Given the description of an element on the screen output the (x, y) to click on. 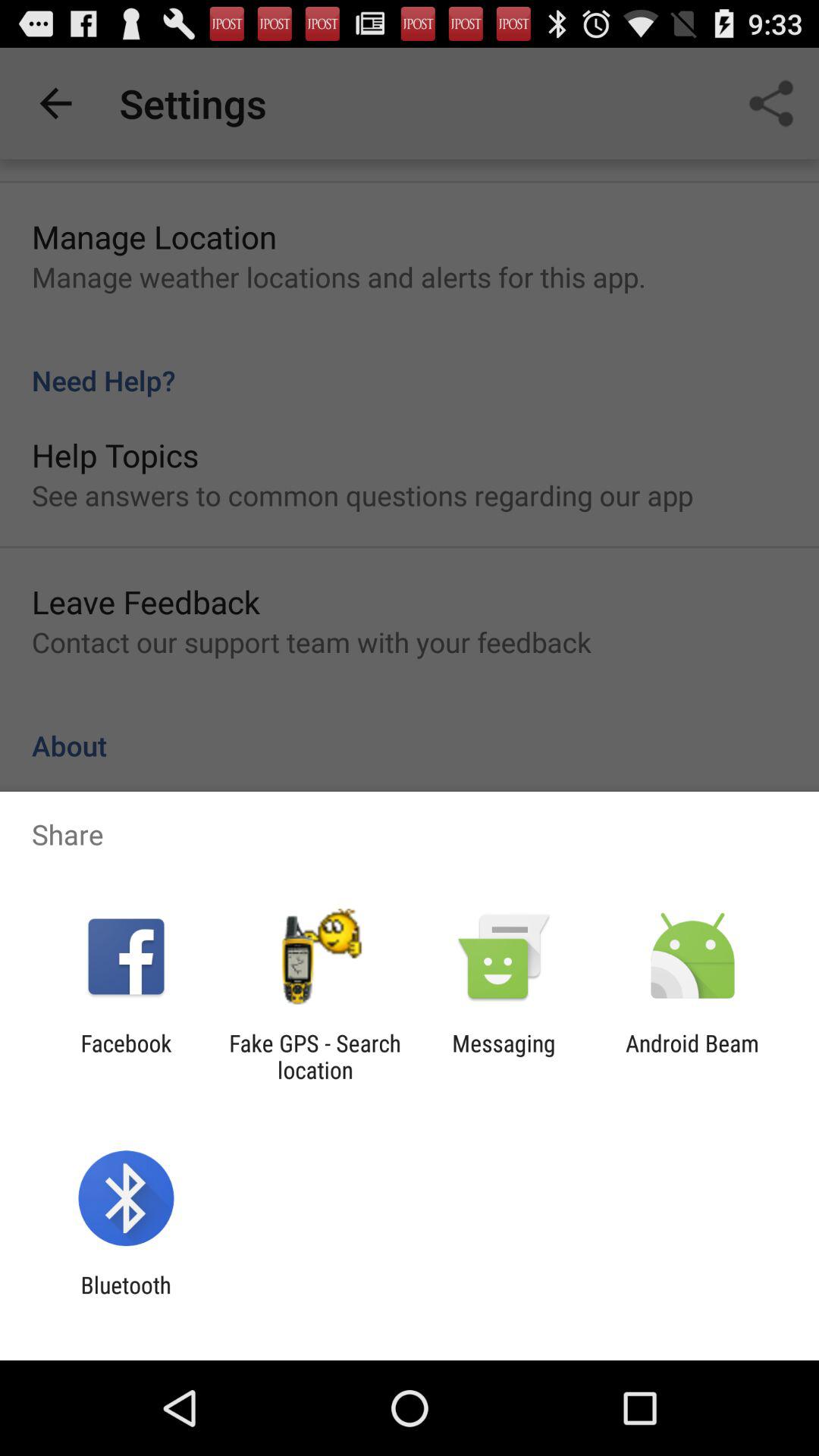
jump until the messaging item (503, 1056)
